Given the description of an element on the screen output the (x, y) to click on. 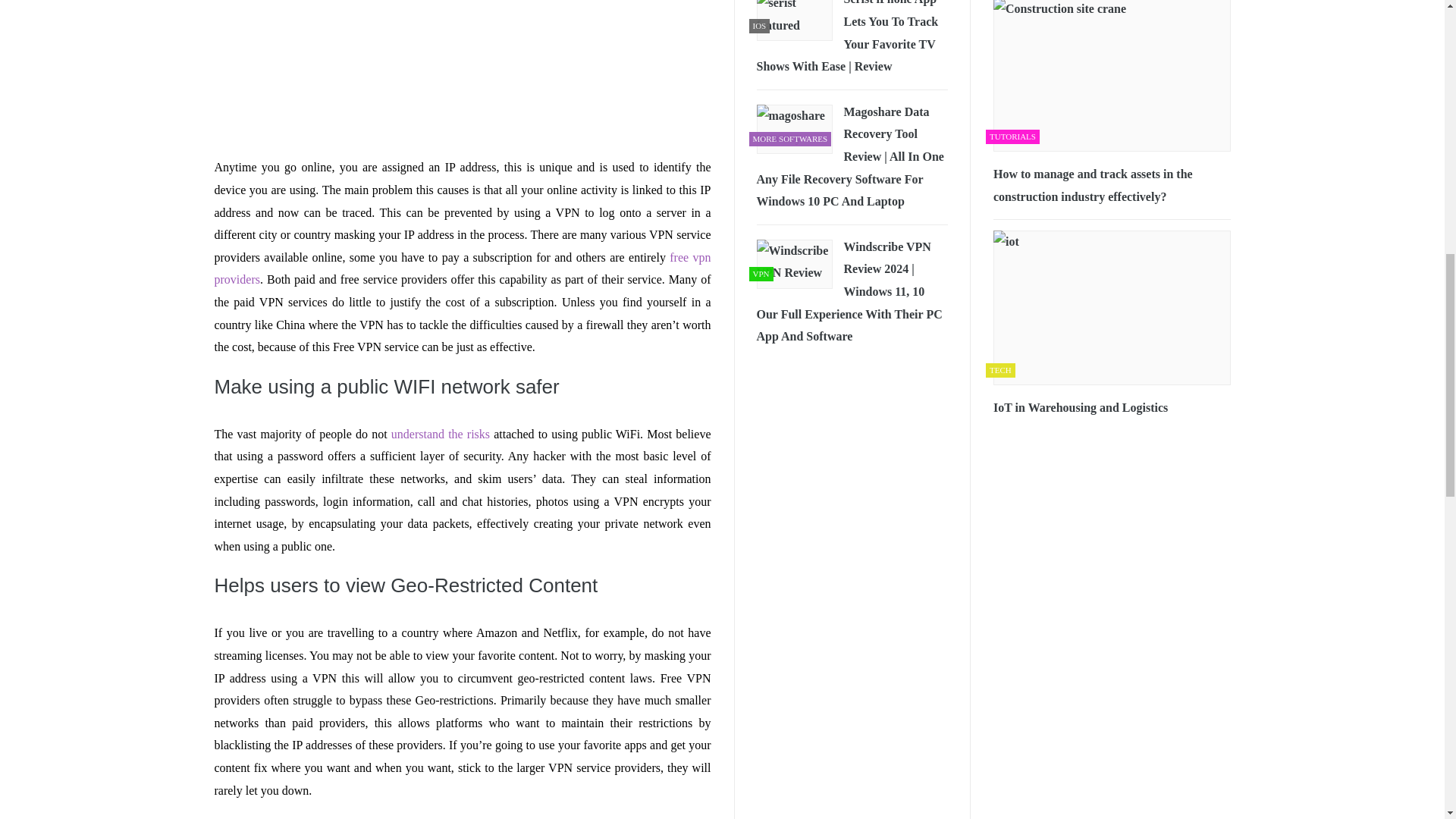
free vpn providers (462, 268)
understand the risks (440, 433)
